Given the description of an element on the screen output the (x, y) to click on. 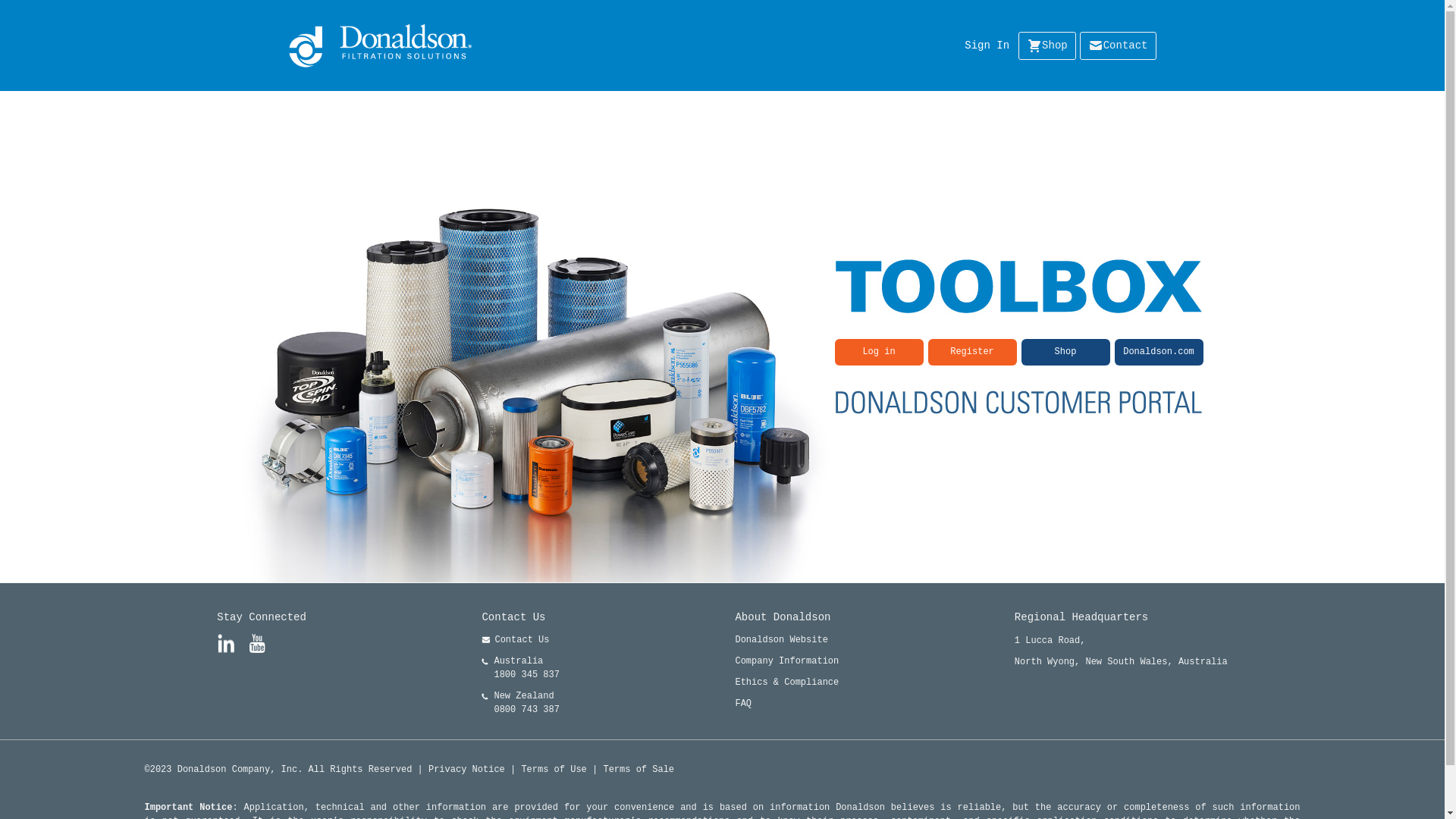
Terms of Use Element type: text (553, 769)
Donaldson Website Element type: text (786, 639)
Log in Element type: text (878, 351)
Shop Element type: text (1047, 45)
Register Element type: text (972, 351)
Contact Element type: text (1117, 45)
Shop Element type: text (1064, 351)
Ethics & Compliance Element type: text (786, 682)
Privacy Notice Element type: text (466, 769)
Shop Element type: text (1065, 351)
New Zealand
0800 743 387 Element type: text (519, 702)
FAQ Element type: text (786, 703)
Australia
1800 345 837 Element type: text (519, 667)
Contact Us Element type: text (519, 639)
Donaldson.com Element type: text (1158, 351)
Terms of Sale Element type: text (638, 769)
Company Information Element type: text (786, 661)
Donaldson.com Element type: text (1157, 351)
